Given the description of an element on the screen output the (x, y) to click on. 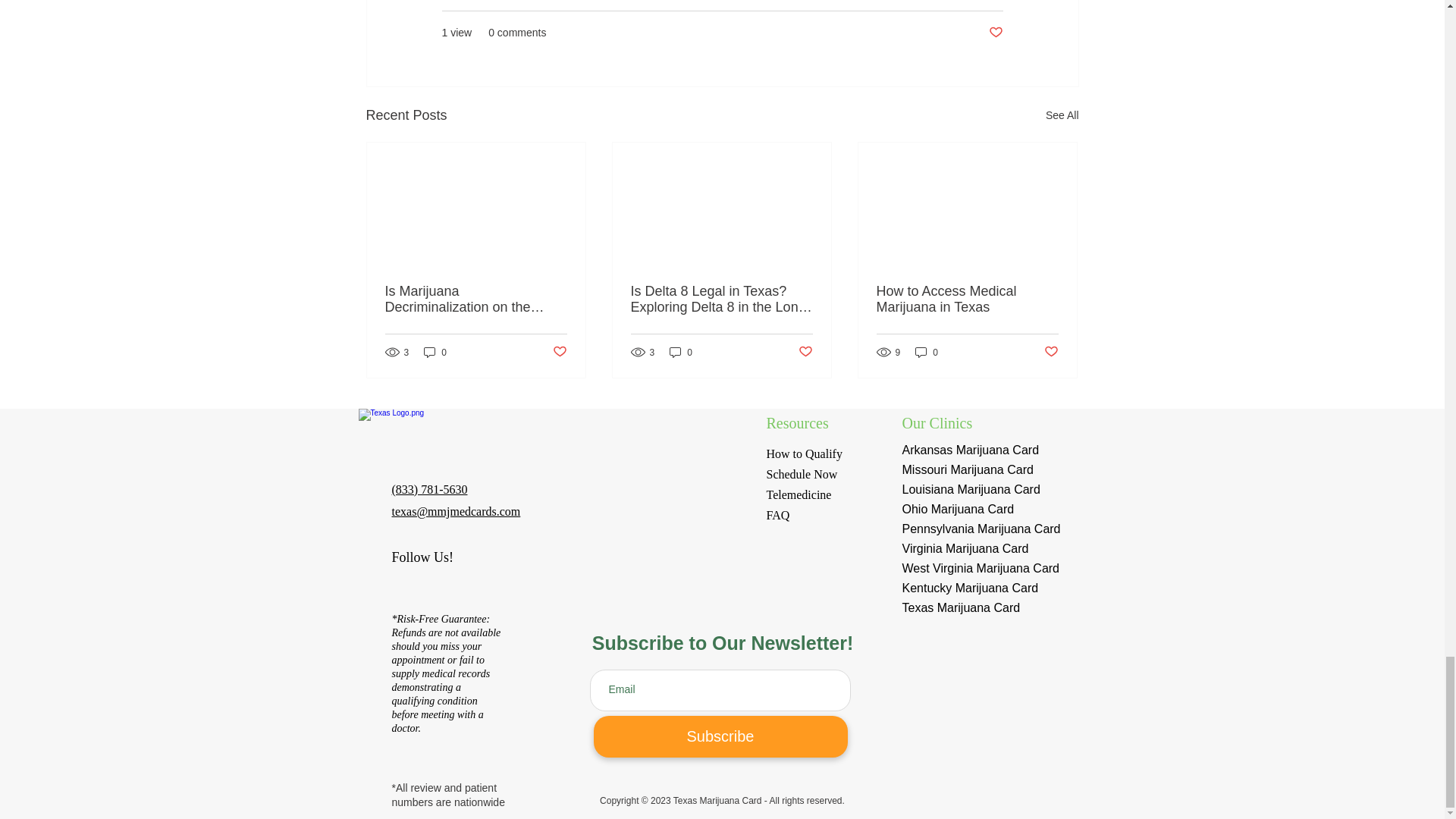
0 (435, 351)
FAQ (777, 514)
Post not marked as liked (1050, 351)
Post not marked as liked (558, 351)
How to Access Medical Marijuana in Texas (967, 299)
Post not marked as liked (995, 32)
Telemedicine  (799, 494)
0 (926, 351)
Schedule Now (801, 473)
Missouri Marijuana Card (967, 469)
Is Marijuana Decriminalization on the Horizon for Texas? (476, 299)
Post not marked as liked (804, 351)
0 (681, 351)
See All (1061, 115)
